Given the description of an element on the screen output the (x, y) to click on. 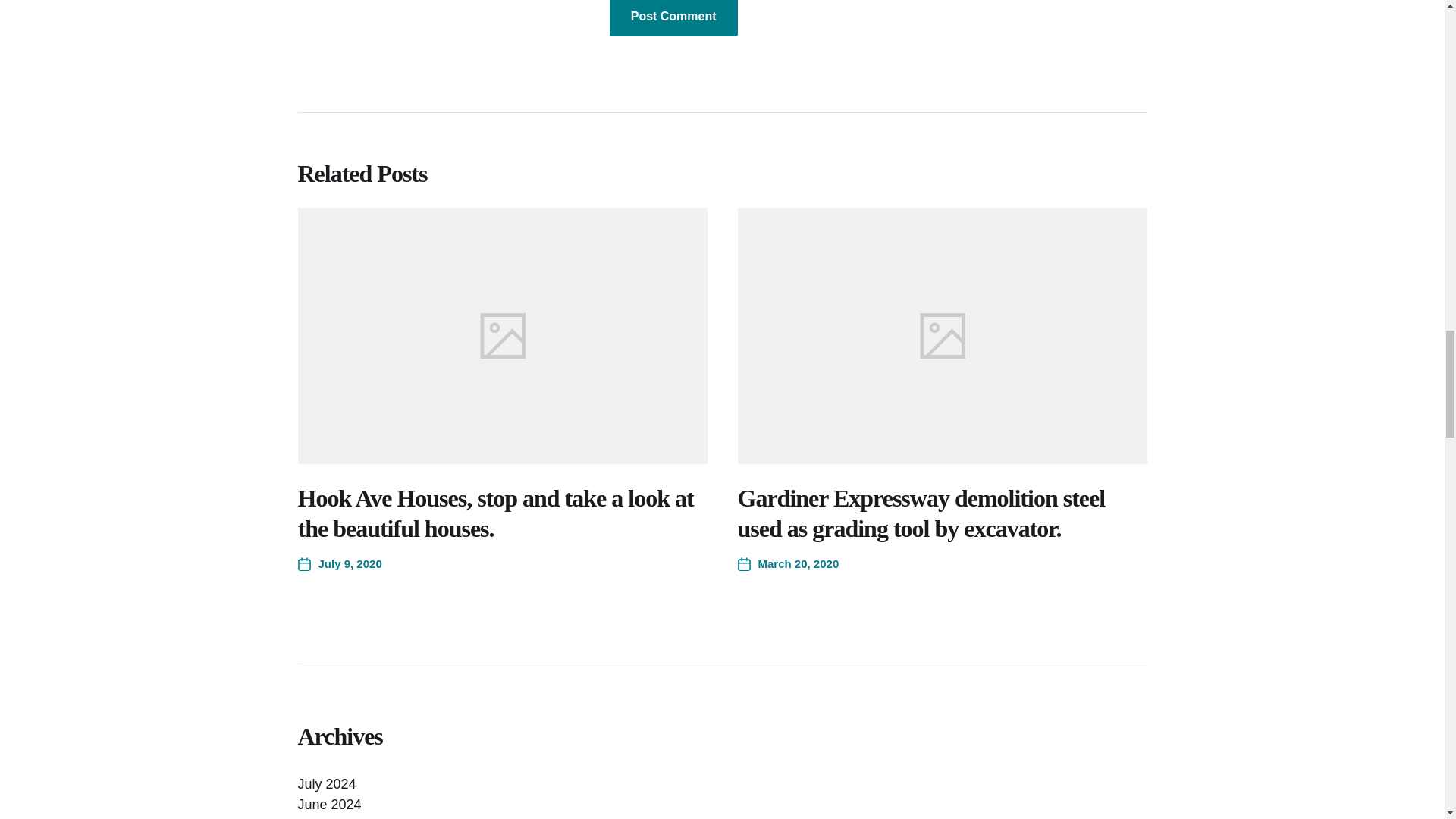
Post Comment (674, 18)
July 2024 (326, 783)
July 9, 2020 (339, 564)
March 20, 2020 (787, 564)
May 2024 (326, 818)
Post Comment (674, 18)
June 2024 (329, 804)
